Given the description of an element on the screen output the (x, y) to click on. 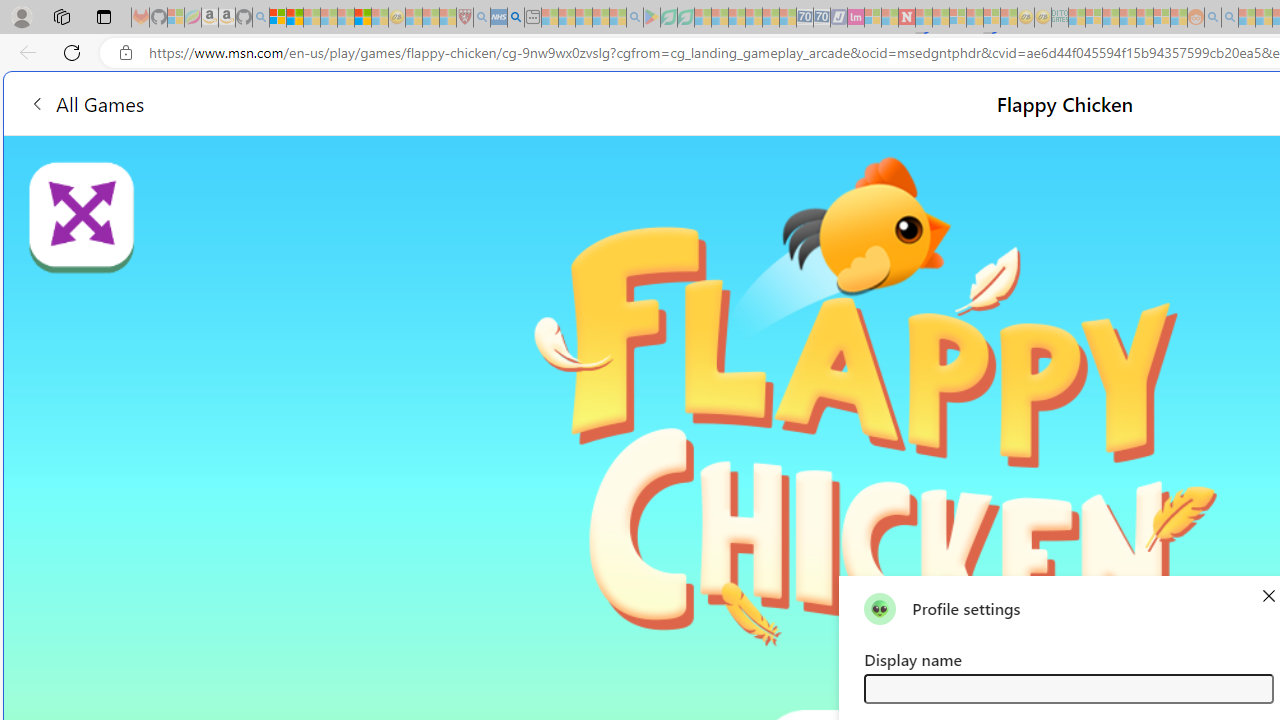
Cheap Hotels - Save70.com - Sleeping (821, 17)
DITOGAMES AG Imprint - Sleeping (1059, 17)
""'s avatar (880, 608)
The Weather Channel - MSN - Sleeping (311, 17)
Microsoft-Report a Concern to Bing - Sleeping (175, 17)
New tab - Sleeping (532, 17)
Cheap Car Rentals - Save70.com - Sleeping (804, 17)
Recipes - MSN - Sleeping (413, 17)
